Given the description of an element on the screen output the (x, y) to click on. 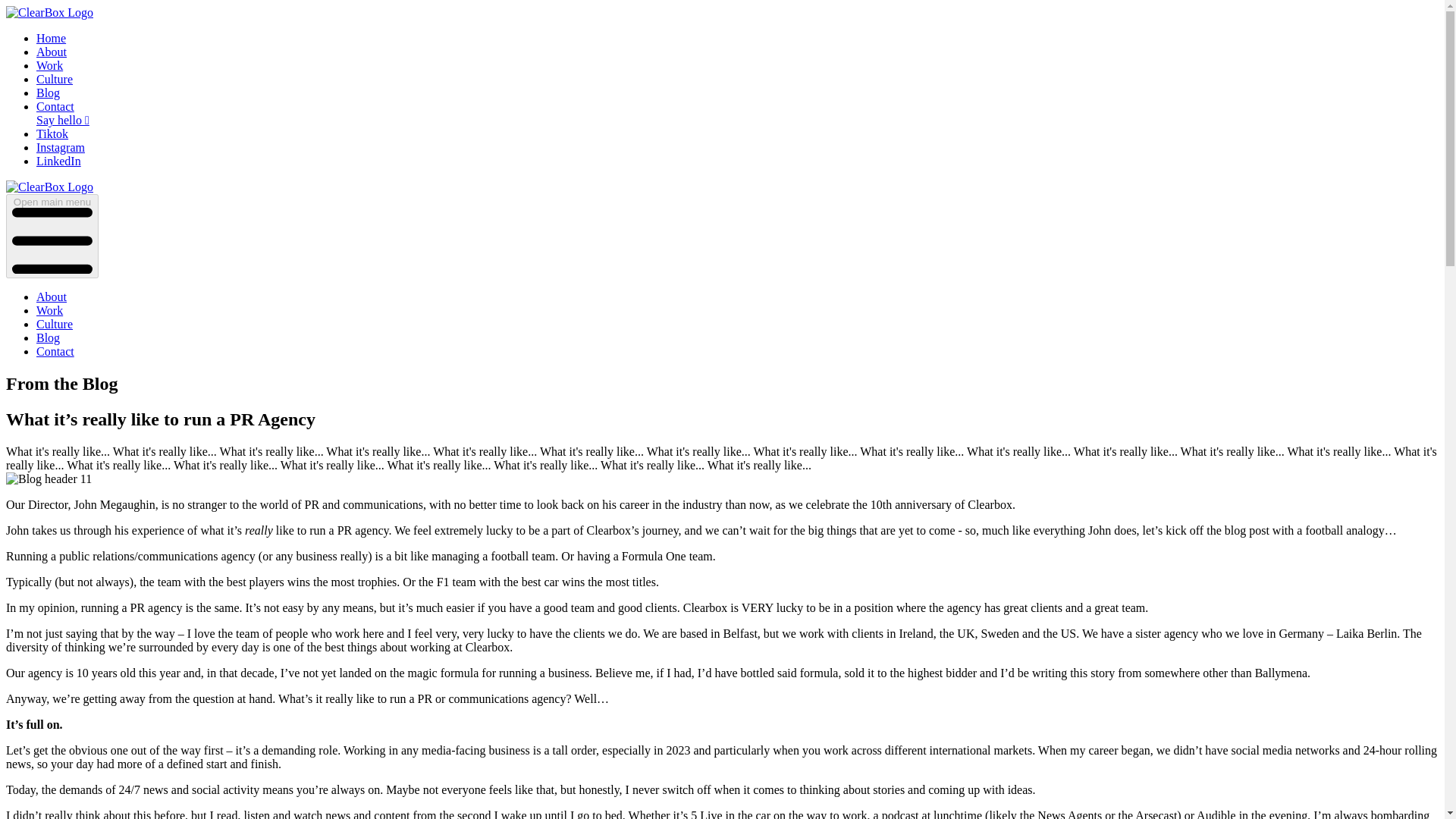
ClearBox Logo (49, 12)
About (51, 296)
Contact (55, 350)
Blog (47, 92)
Tiktok (52, 133)
About (51, 51)
Blog header 11 (48, 479)
LinkedIn (58, 160)
Instagram (60, 146)
Blog (47, 337)
Home (50, 38)
Open main menu (52, 236)
Work (49, 309)
Work (49, 65)
ClearBox Logo (49, 187)
